Given the description of an element on the screen output the (x, y) to click on. 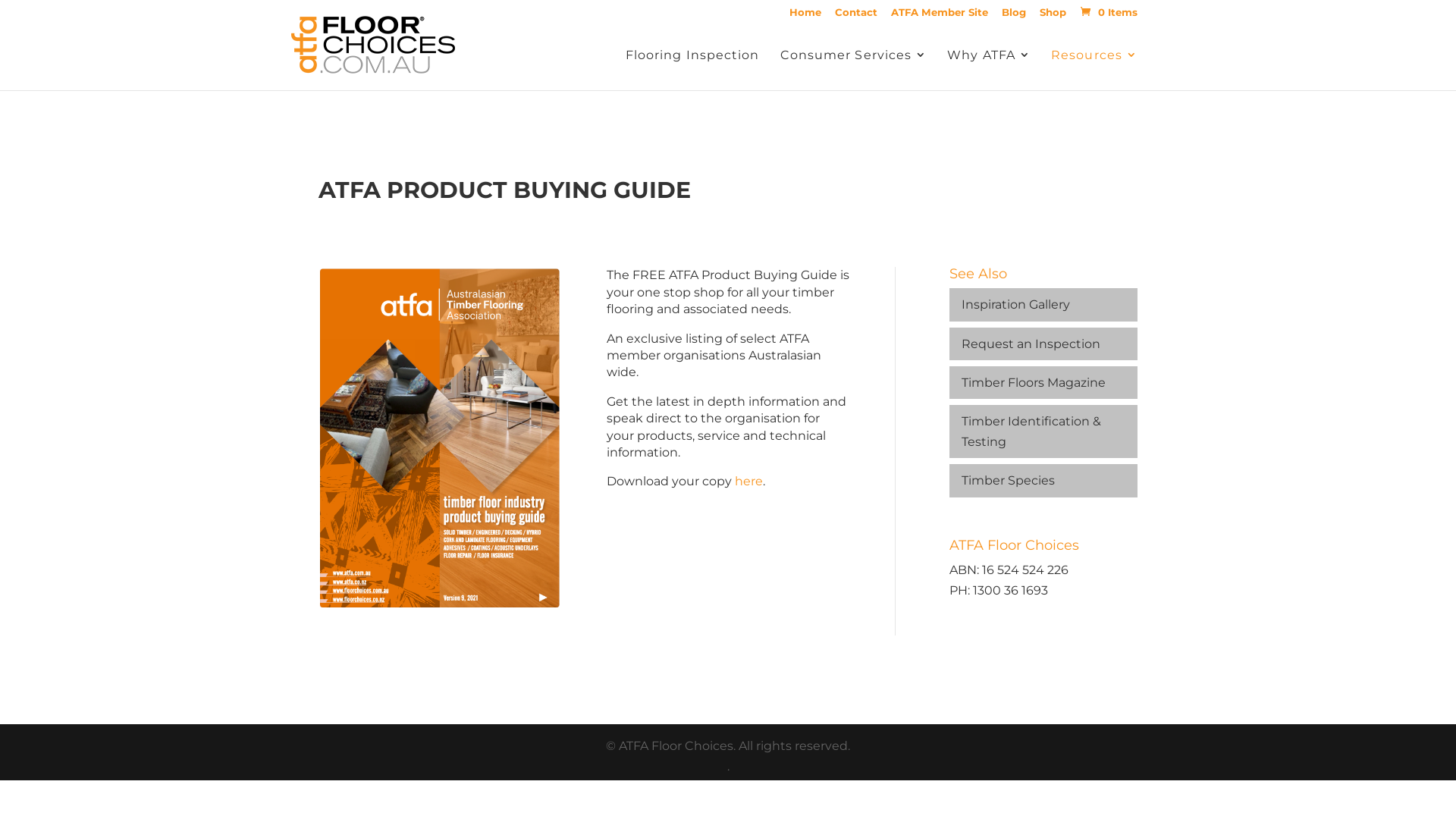
Request an Inspection Element type: text (1043, 343)
ATFA Member Site Element type: text (939, 15)
Screen Shot 2021-05-10 at 9.30.10 am Element type: hover (439, 437)
Flooring Inspection Element type: text (692, 67)
Timber Identification & Testing Element type: text (1043, 431)
Contact Element type: text (855, 15)
Timber Species Element type: text (1043, 480)
Shop Element type: text (1052, 15)
0 Items Element type: text (1107, 12)
1300 36 1693 Element type: text (1010, 590)
Home Element type: text (805, 15)
Resources Element type: text (1094, 67)
Why ATFA Element type: text (988, 67)
Consumer Services Element type: text (853, 67)
Timber Floors Magazine Element type: text (1043, 382)
Blog Element type: text (1013, 15)
here Element type: text (748, 480)
Inspiration Gallery Element type: text (1043, 304)
